Given the description of an element on the screen output the (x, y) to click on. 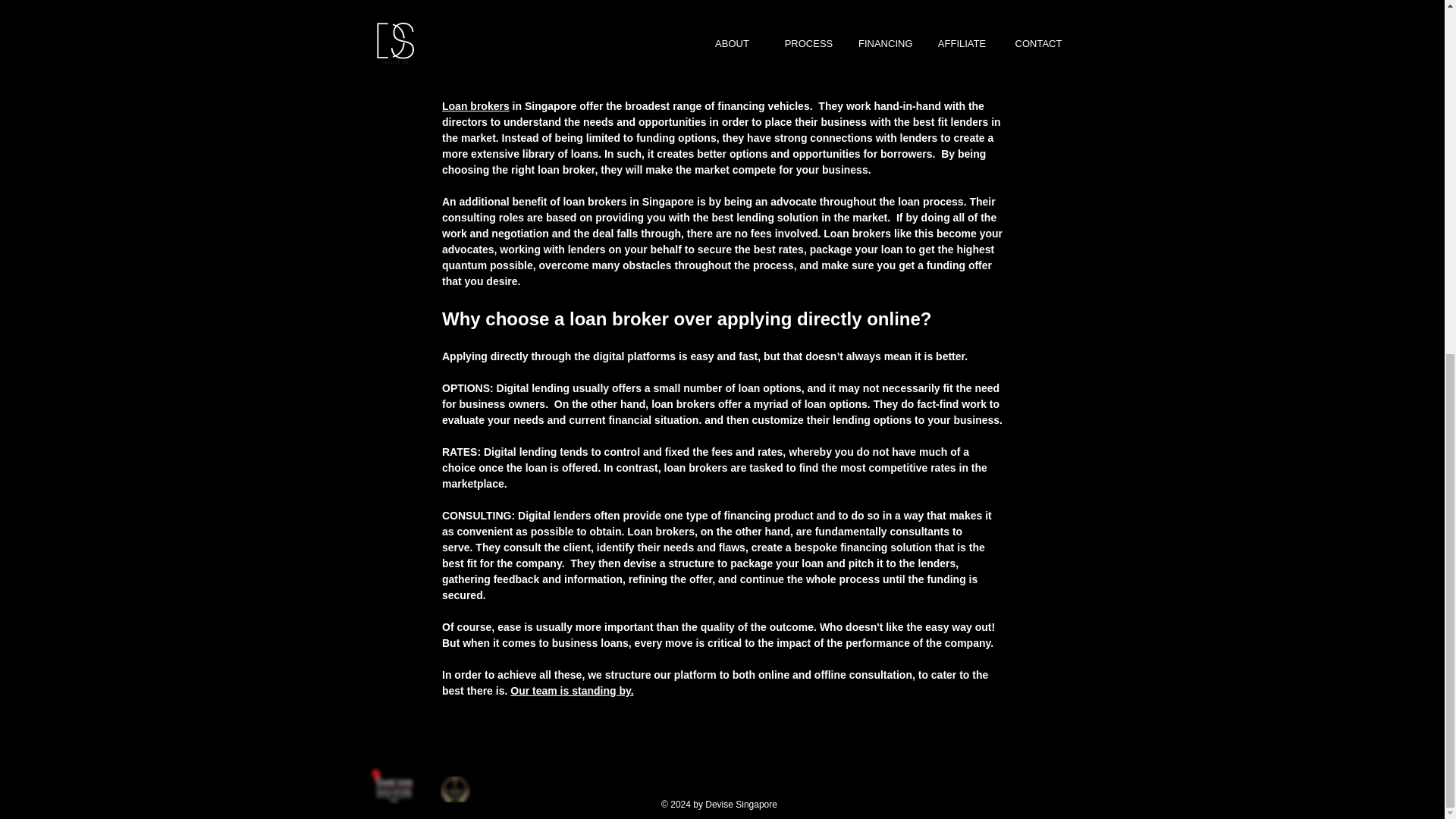
Our team is standing by. (572, 690)
Loan brokers (474, 105)
